Given the description of an element on the screen output the (x, y) to click on. 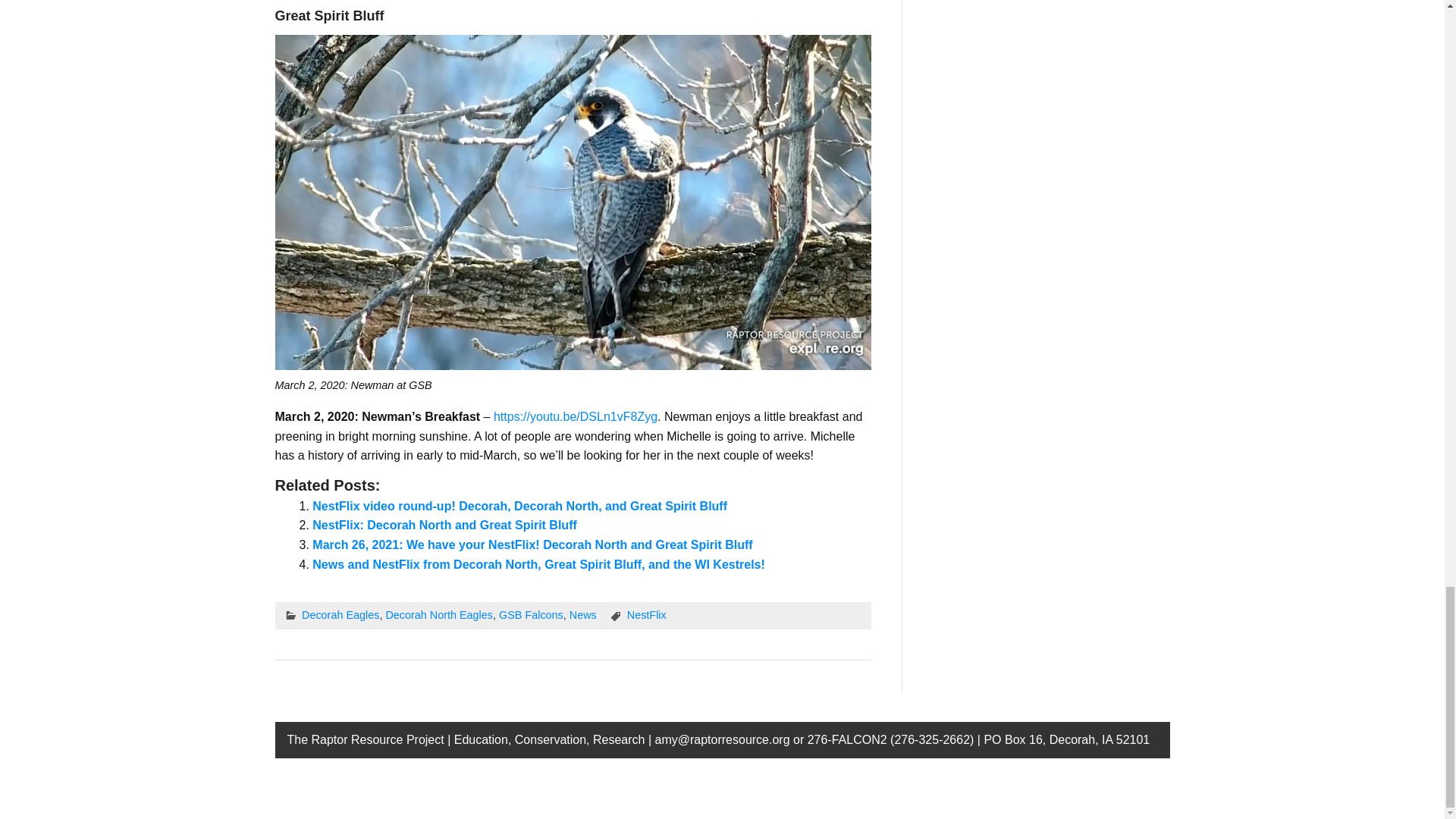
NestFlix: Decorah North and Great Spirit Bluff (444, 524)
